Given the description of an element on the screen output the (x, y) to click on. 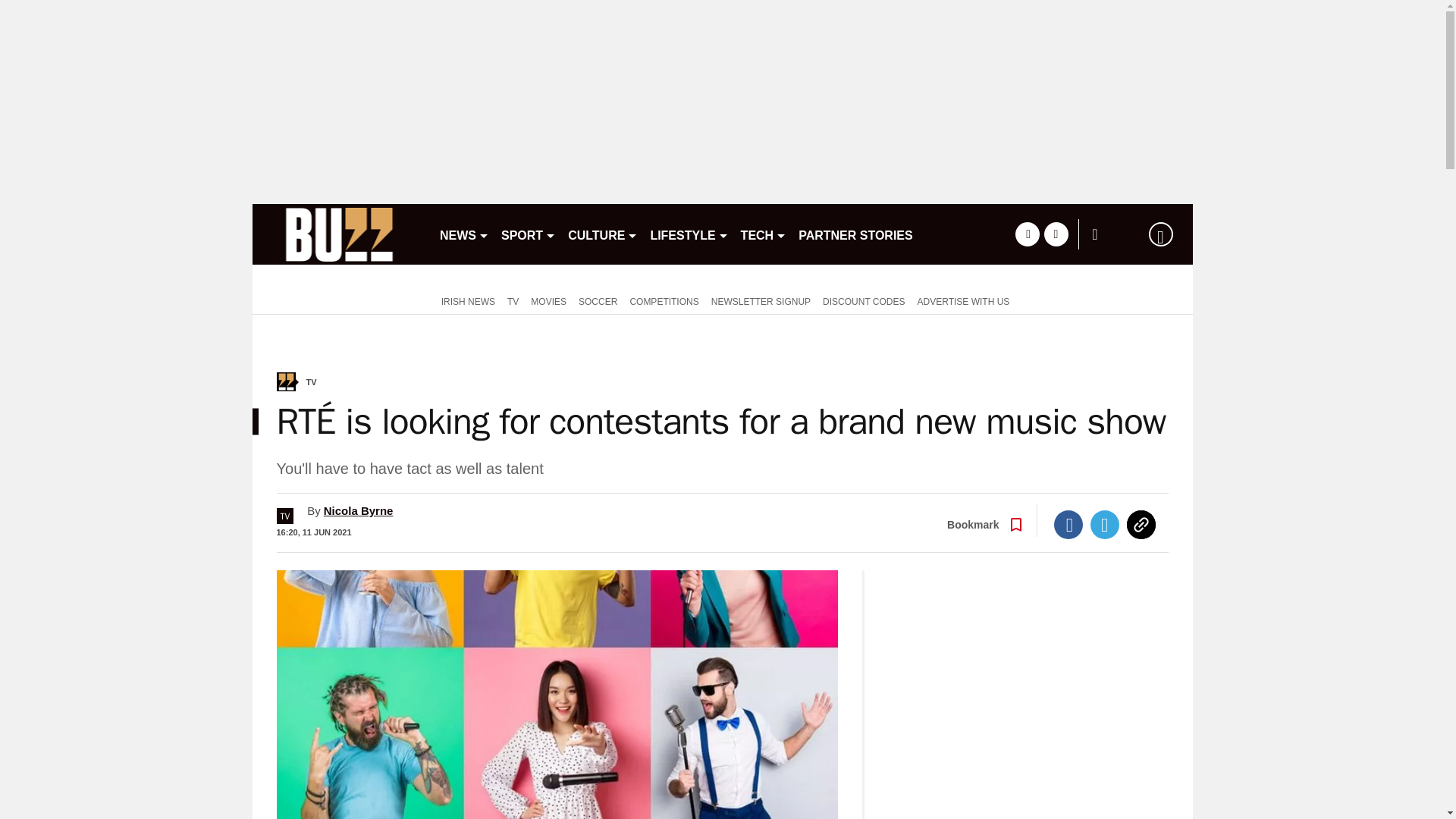
buzz (338, 233)
NEWS (464, 233)
Facebook (1068, 524)
twitter (1055, 233)
CULTURE (602, 233)
TECH (764, 233)
PARTNER STORIES (855, 233)
SPORT (528, 233)
Twitter (1104, 524)
facebook (1026, 233)
